Given the description of an element on the screen output the (x, y) to click on. 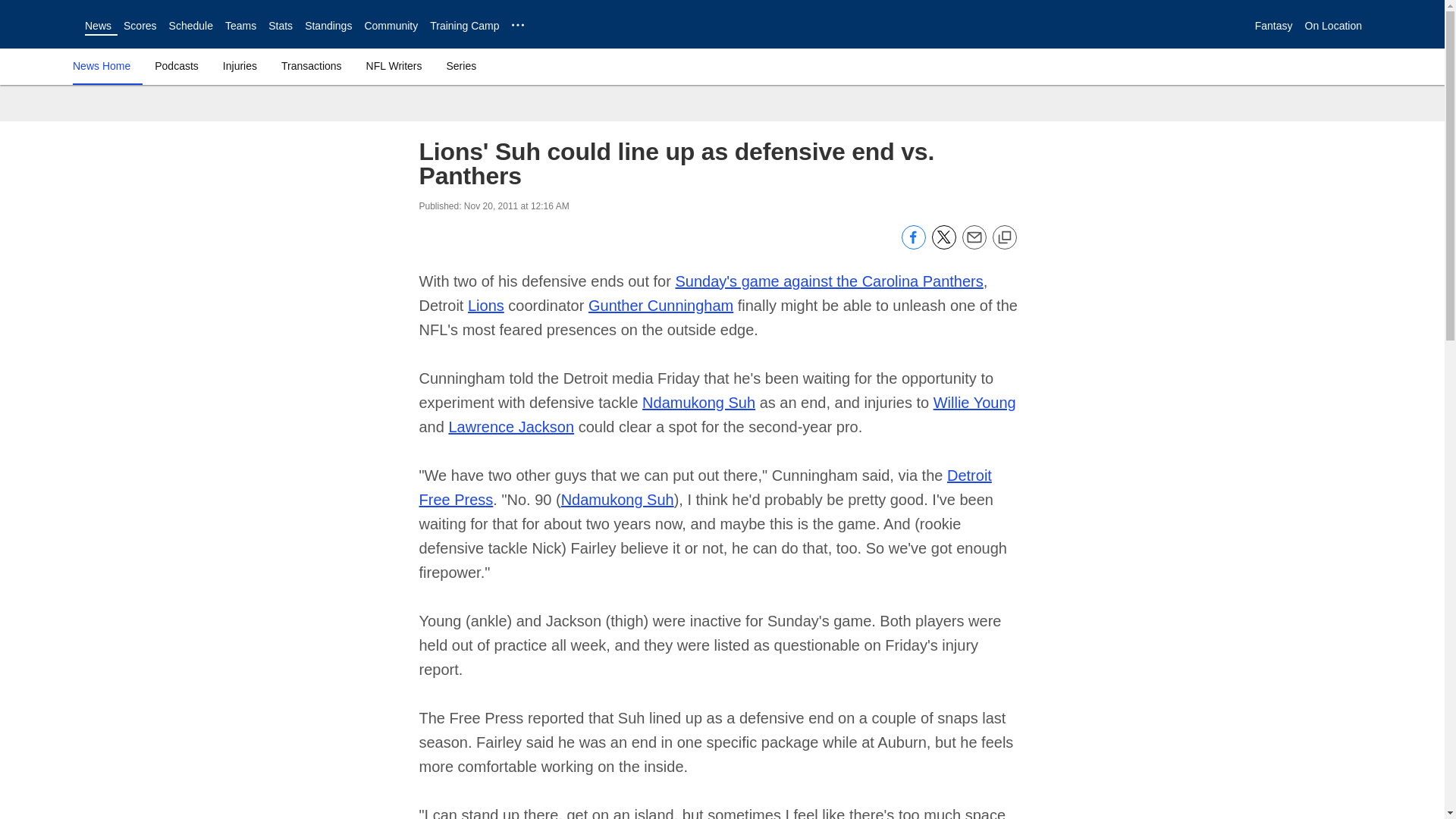
News (98, 25)
Teams (240, 25)
Scores (140, 25)
Scores (140, 25)
Teams (240, 25)
Schedule (190, 25)
Stats (279, 25)
Link to NFL homepage (42, 23)
Schedule (190, 25)
News (98, 25)
